Given the description of an element on the screen output the (x, y) to click on. 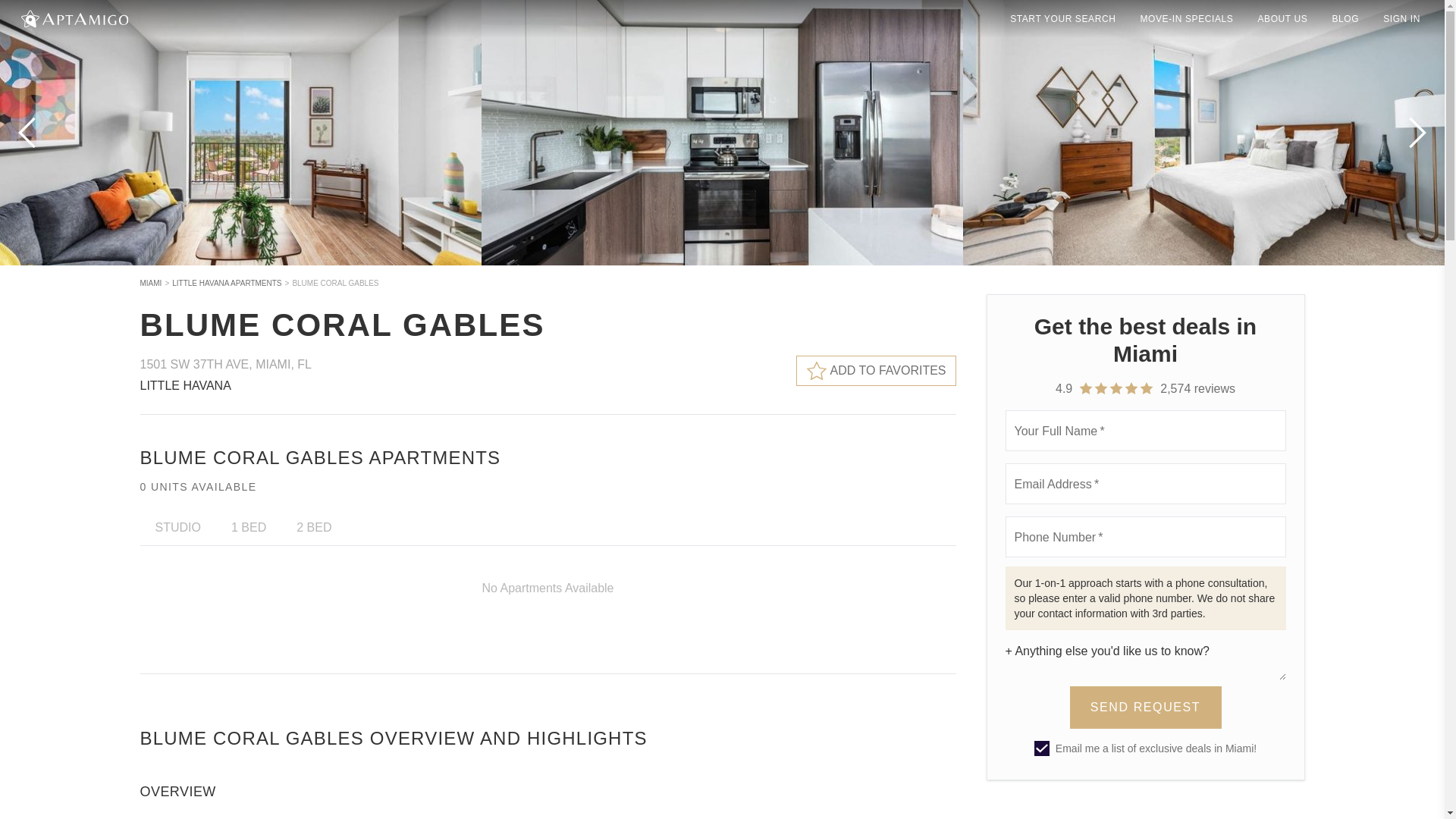
BLOG (1345, 18)
STUDIO (177, 527)
SIGN IN (1402, 18)
LITTLE HAVANA APARTMENTS (226, 283)
2 BED (313, 527)
ADD TO FAVORITES (876, 370)
MIAMI (150, 283)
SEND REQUEST (1144, 707)
on (1041, 748)
ABOUT US (1282, 18)
